Given the description of an element on the screen output the (x, y) to click on. 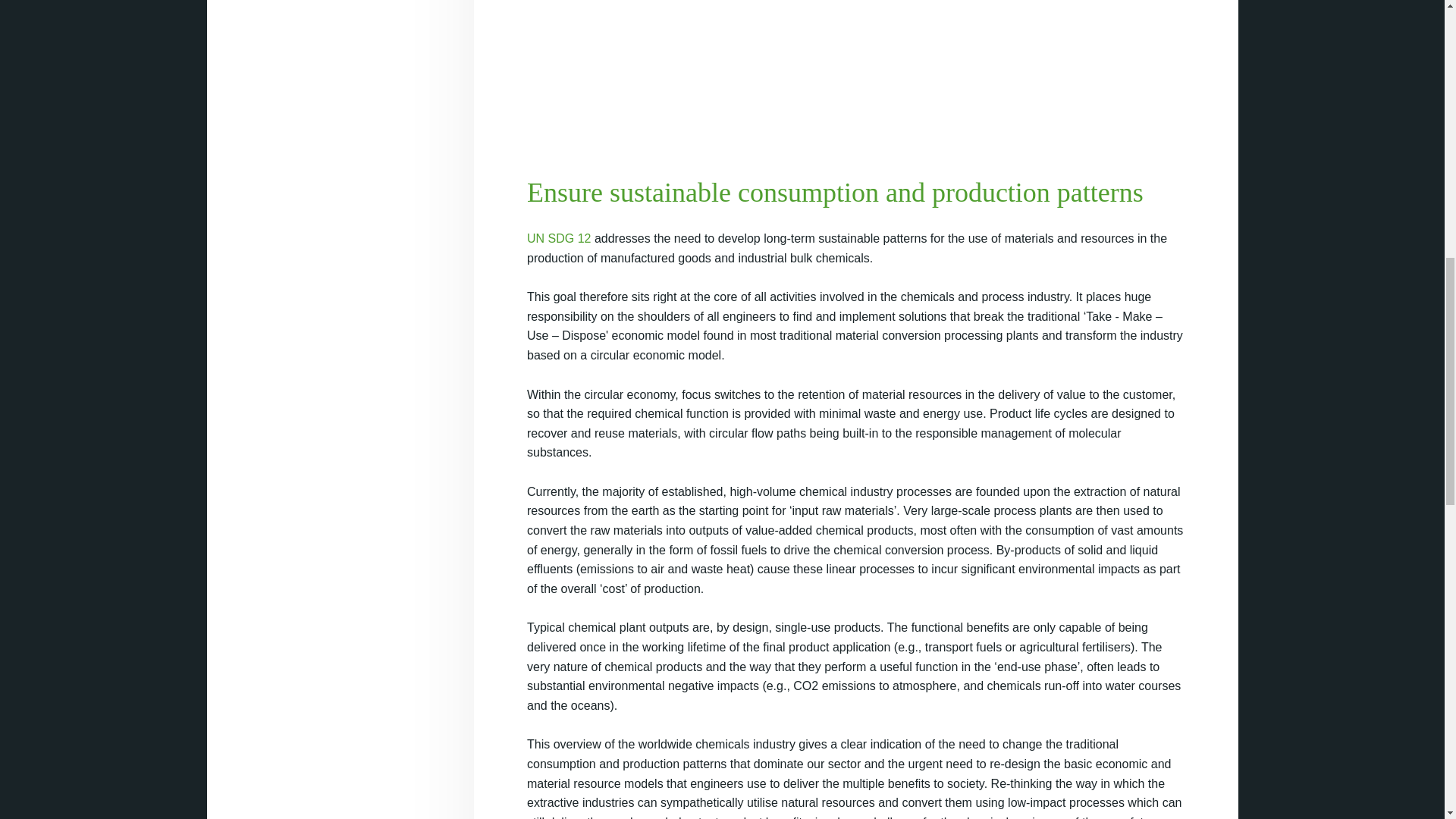
YouTube video player (856, 53)
